Given the description of an element on the screen output the (x, y) to click on. 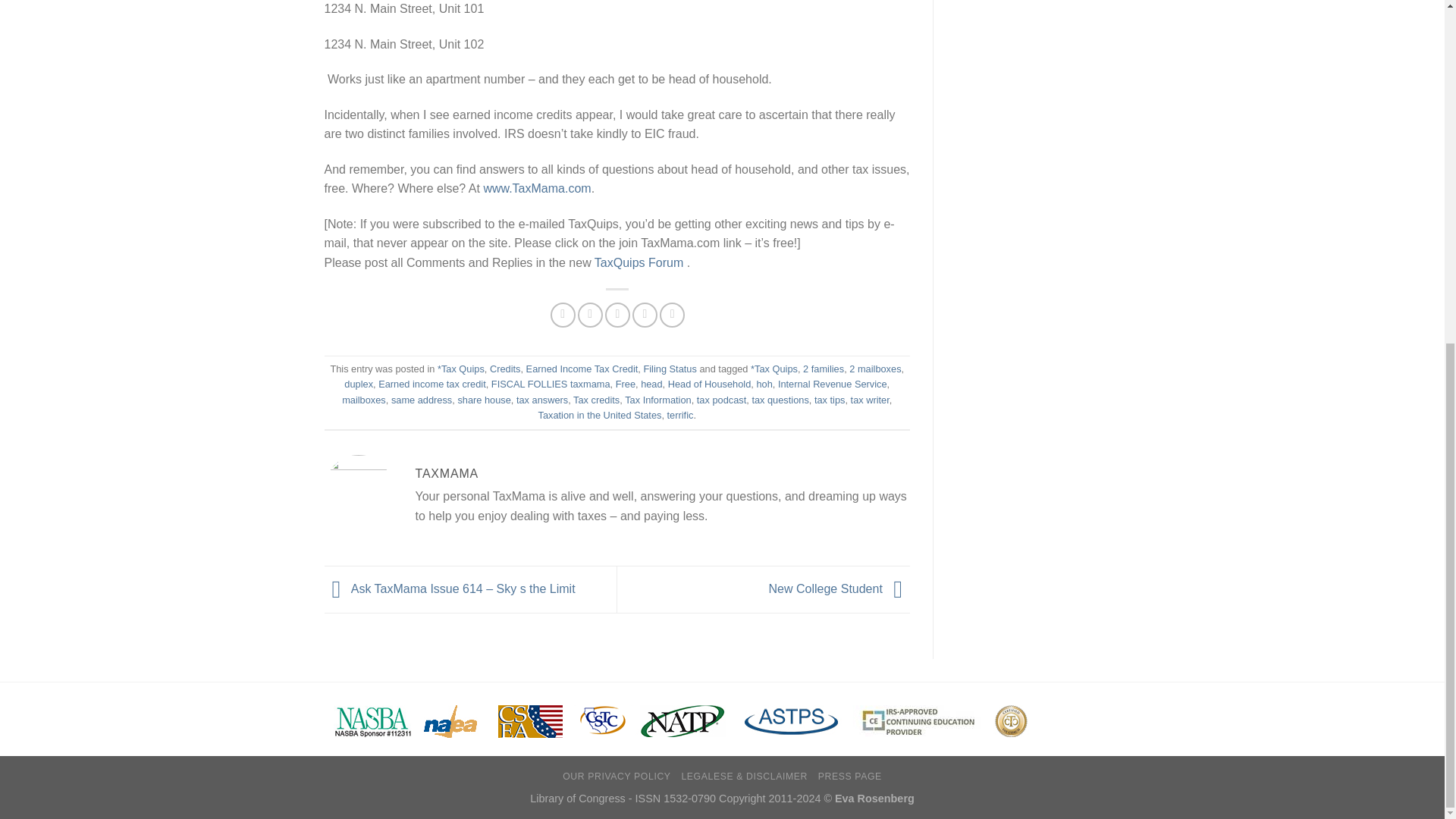
Share on Facebook (562, 314)
Email to a Friend (617, 314)
Pin on Pinterest (644, 314)
Share on LinkedIn (671, 314)
Share on Twitter (590, 314)
www.TaxMama.com (537, 187)
TaxQuips Forum (638, 262)
